Given the description of an element on the screen output the (x, y) to click on. 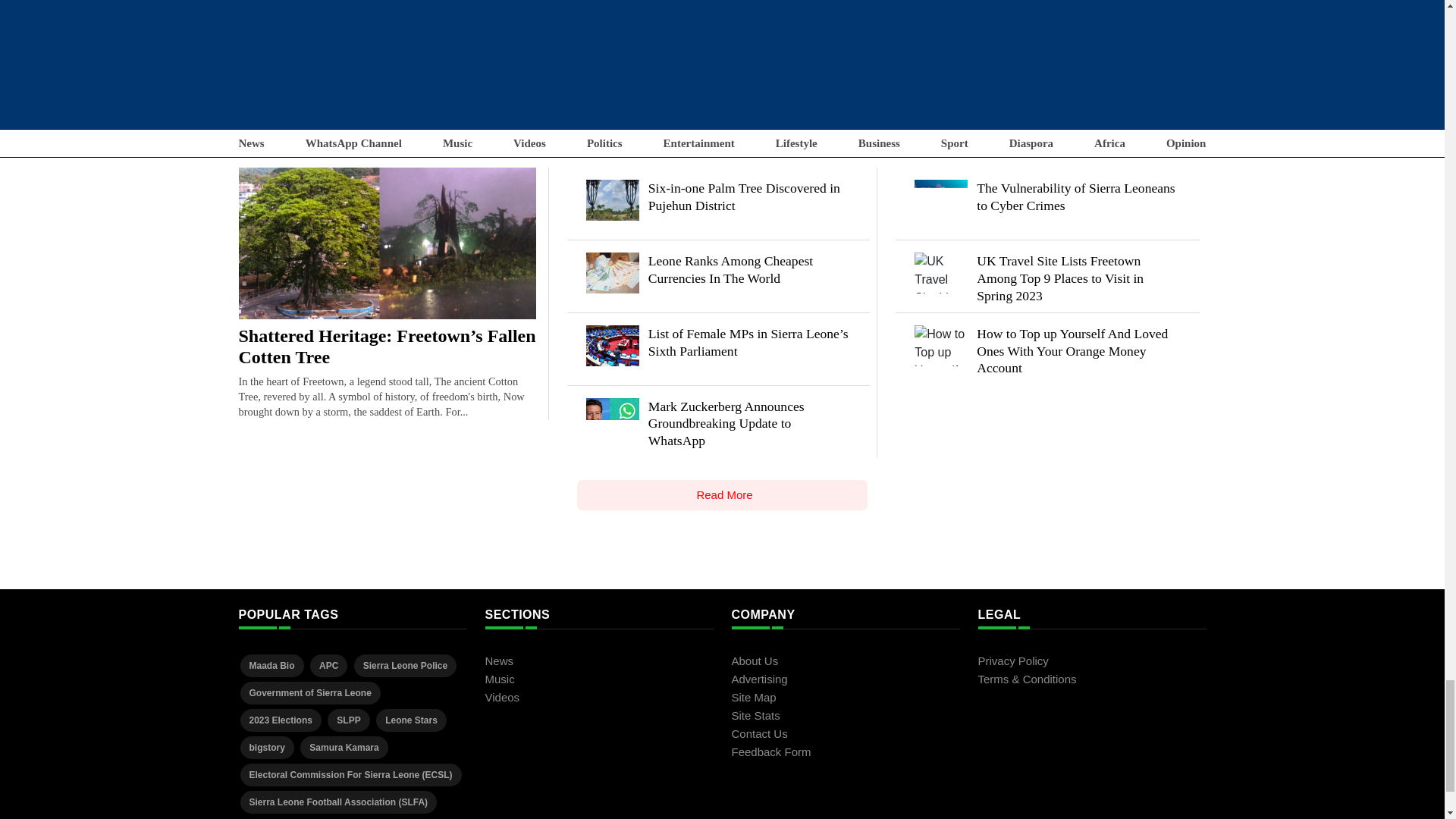
APC (328, 664)
Sierra Leone Police (405, 664)
Maada Bio (271, 664)
Government of Sierra Leone (310, 691)
